Given the description of an element on the screen output the (x, y) to click on. 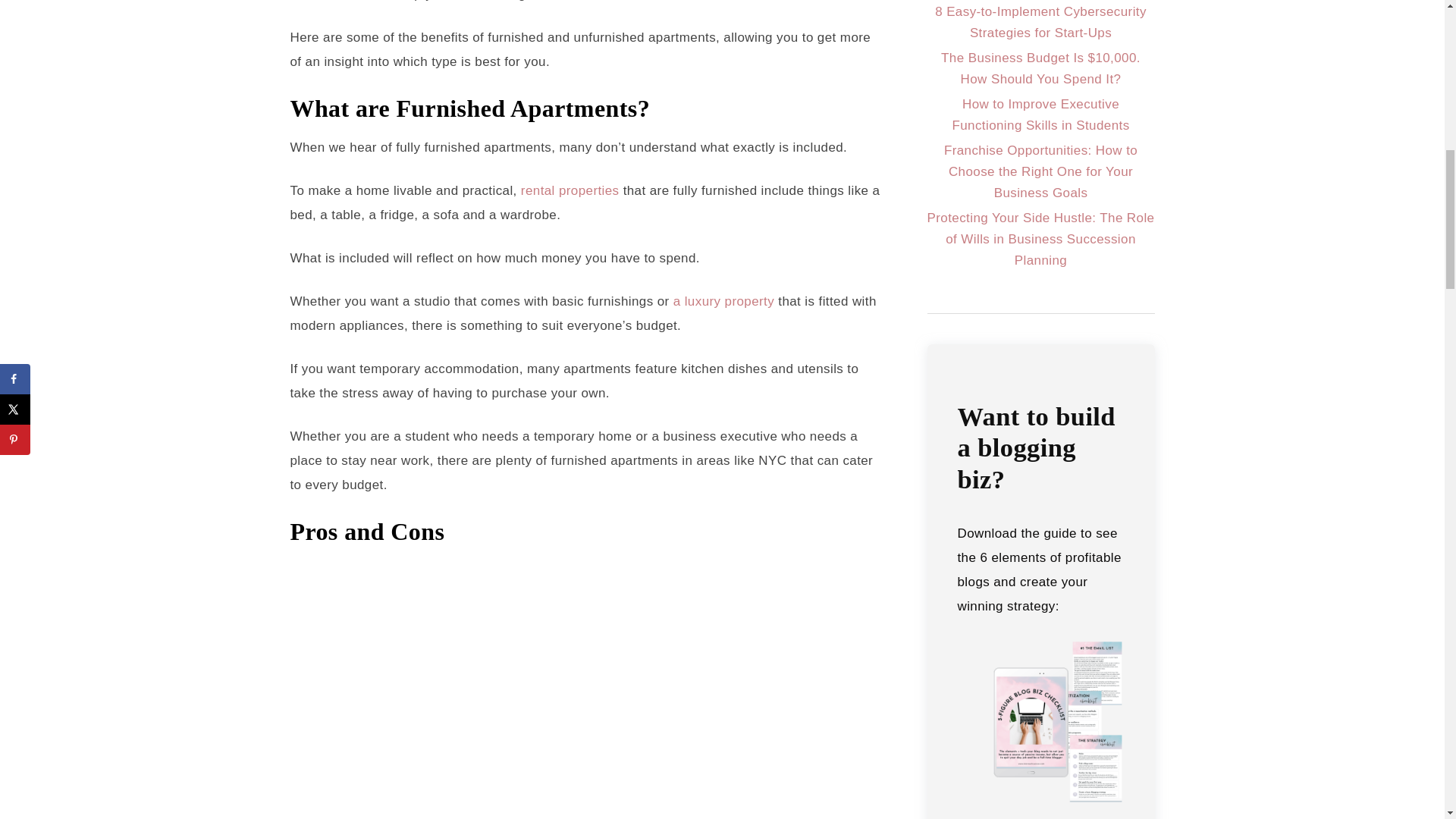
8 Easy-to-Implement Cybersecurity Strategies for Start-Ups (1040, 22)
a luxury property (723, 301)
How to Improve Executive Functioning Skills in Students (1040, 114)
rental properties (570, 190)
